Given the description of an element on the screen output the (x, y) to click on. 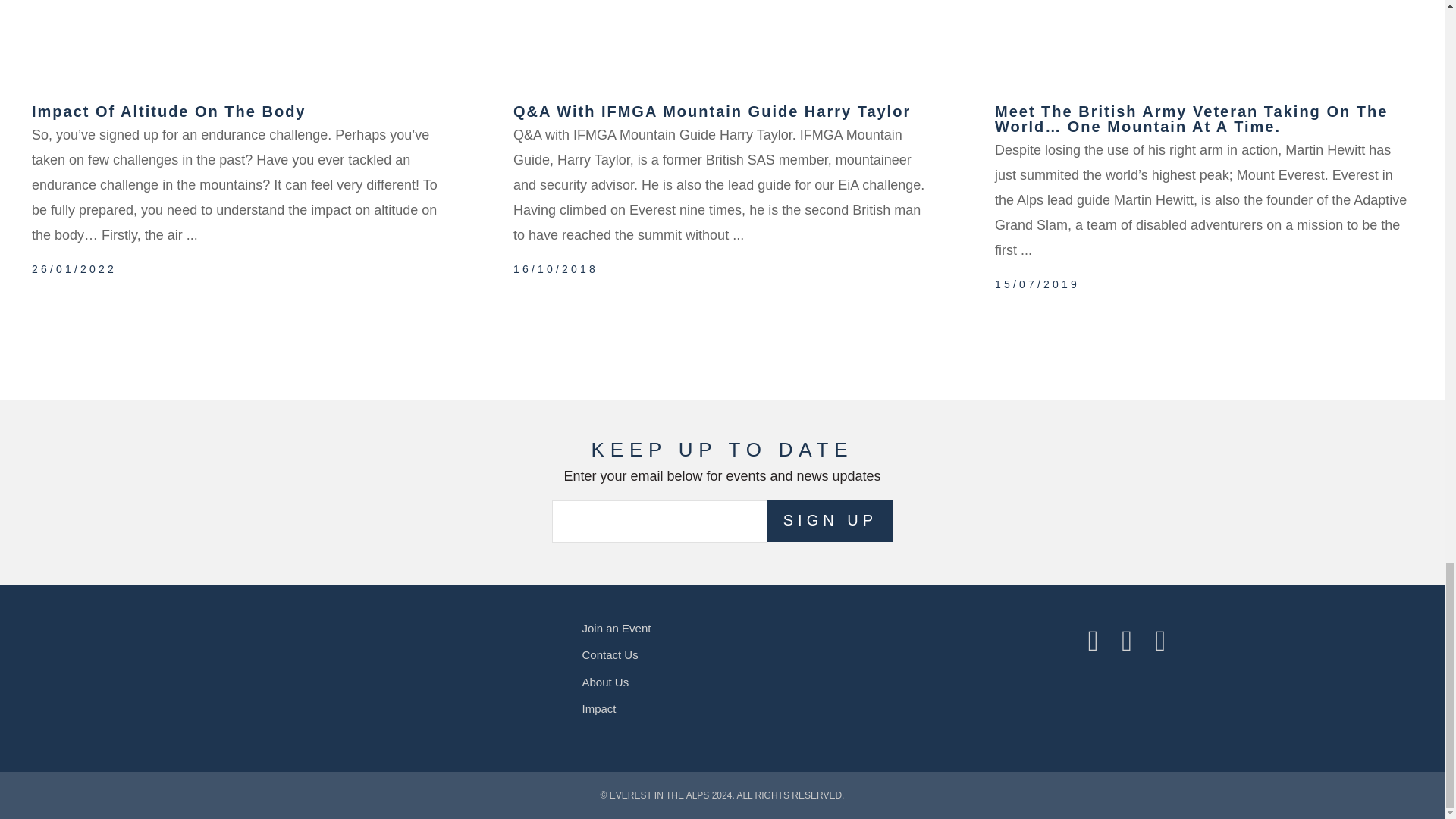
Sign Up (829, 521)
